Given the description of an element on the screen output the (x, y) to click on. 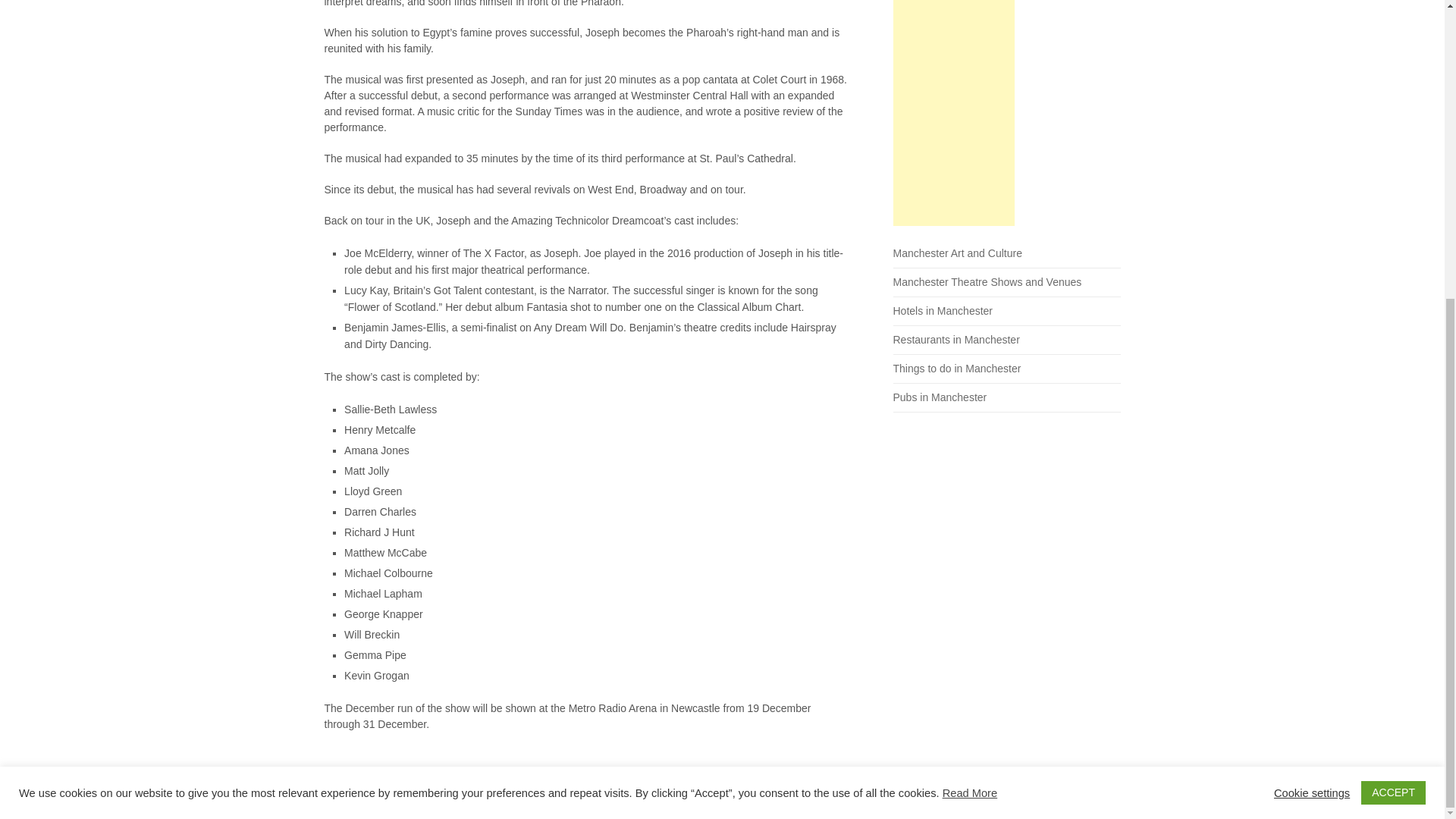
Manchester Art and Culture (957, 253)
Cookie settings (1311, 330)
Manchester Theatre Shows and Venues (987, 282)
Hotels in Manchester (942, 310)
Read More (969, 331)
Pubs in Manchester (940, 397)
Things to do in Manchester (957, 368)
Restaurants in Manchester (956, 339)
ACCEPT (1393, 331)
Superb WordPress Themes (670, 802)
